Given the description of an element on the screen output the (x, y) to click on. 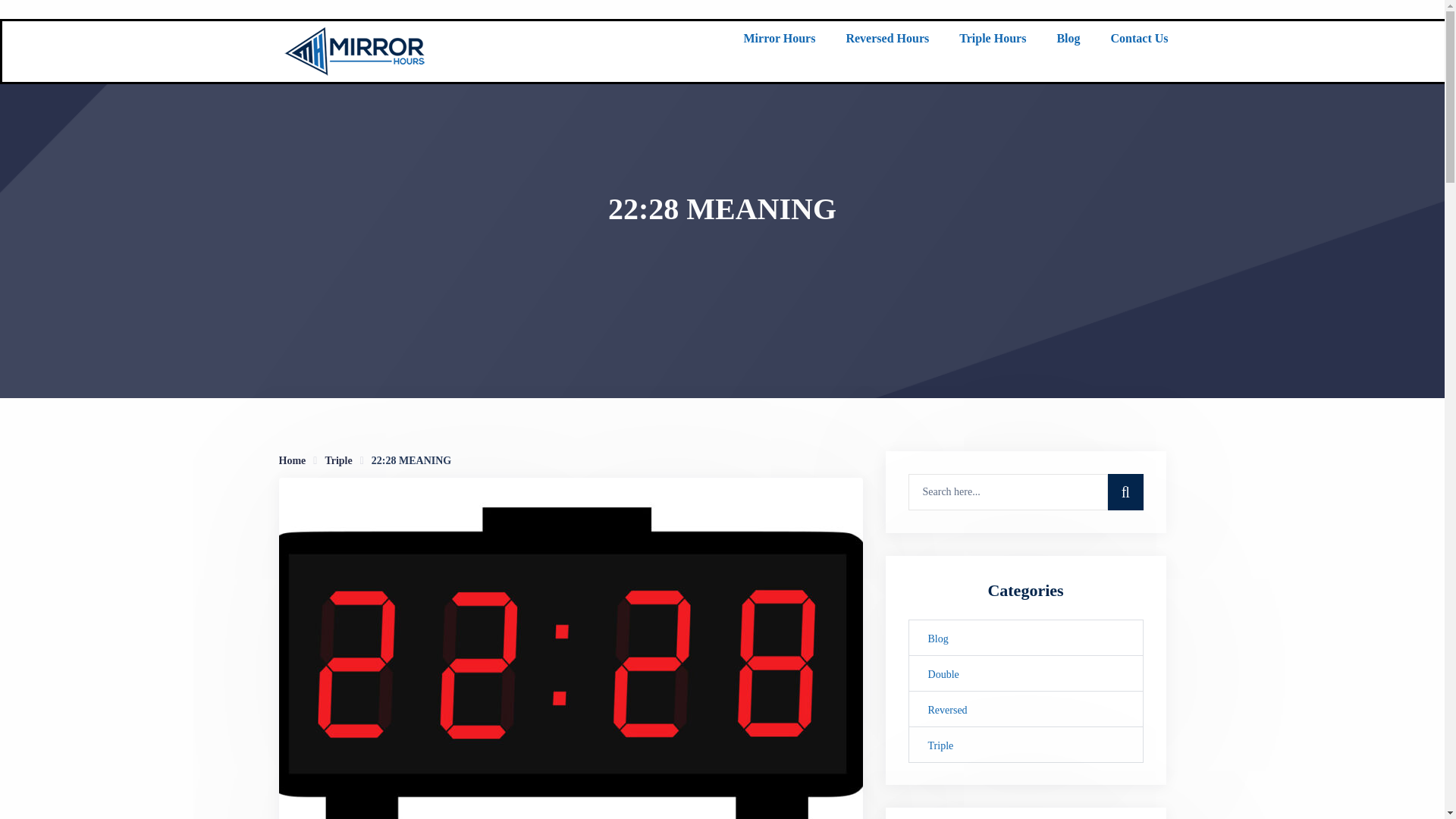
Home (292, 460)
Mirror Hours (778, 41)
Triple Hours (992, 41)
Triple (1025, 744)
Reversed (1025, 709)
Blog (1025, 637)
Double (1025, 673)
Triple (338, 460)
Contact Us (1138, 41)
Reversed Hours (886, 41)
